Given the description of an element on the screen output the (x, y) to click on. 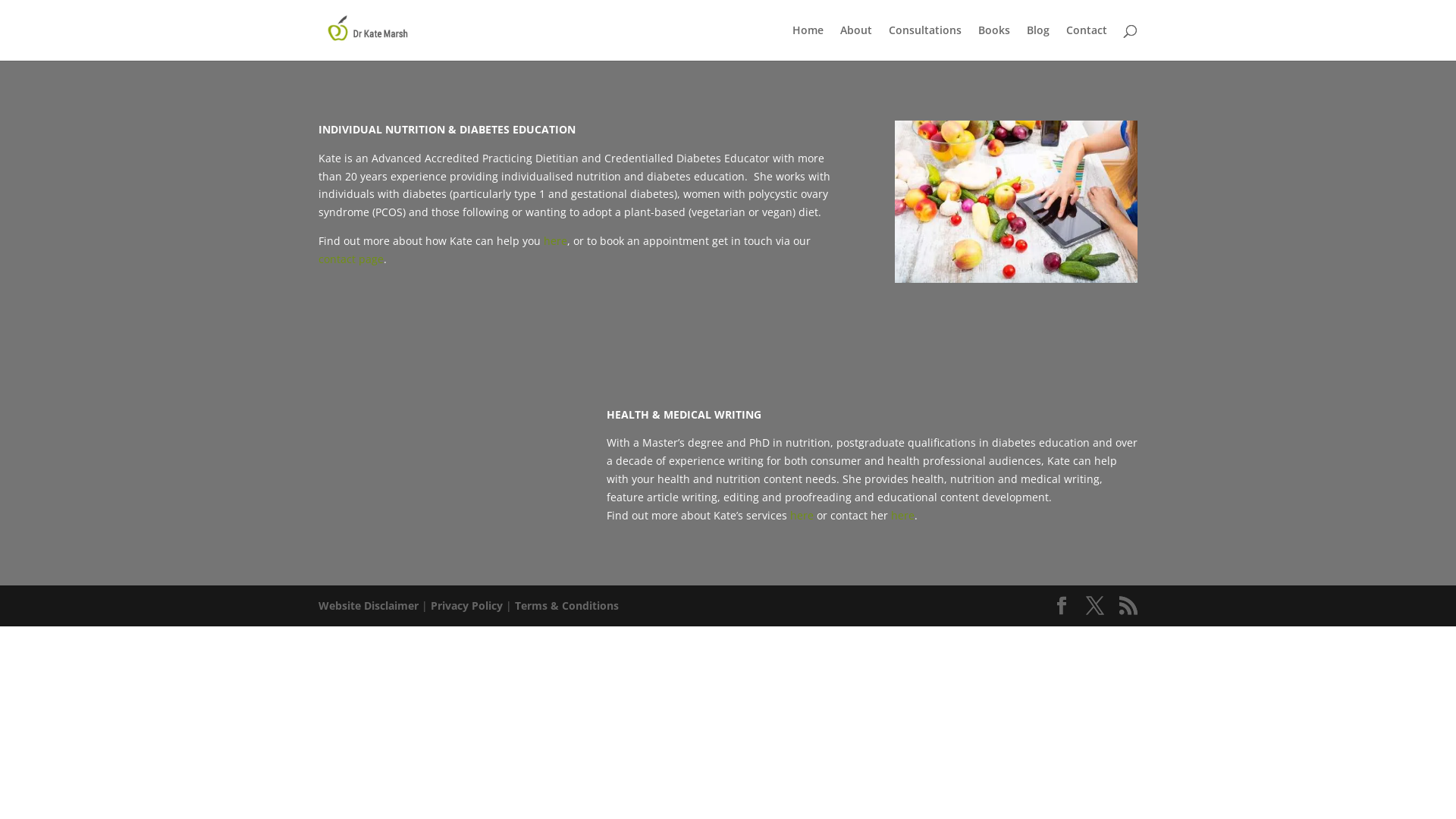
About Element type: text (856, 42)
Consultations Element type: text (924, 42)
contact page Element type: text (350, 258)
Privacy Policy Element type: text (466, 605)
here Element type: text (555, 240)
Blog Element type: text (1037, 42)
here Element type: text (902, 515)
Books Element type: text (994, 42)
here Element type: text (801, 515)
Home Element type: text (807, 42)
Terms & Conditions Element type: text (566, 605)
Contact Element type: text (1086, 42)
Website Disclaimer Element type: text (368, 605)
